Given the description of an element on the screen output the (x, y) to click on. 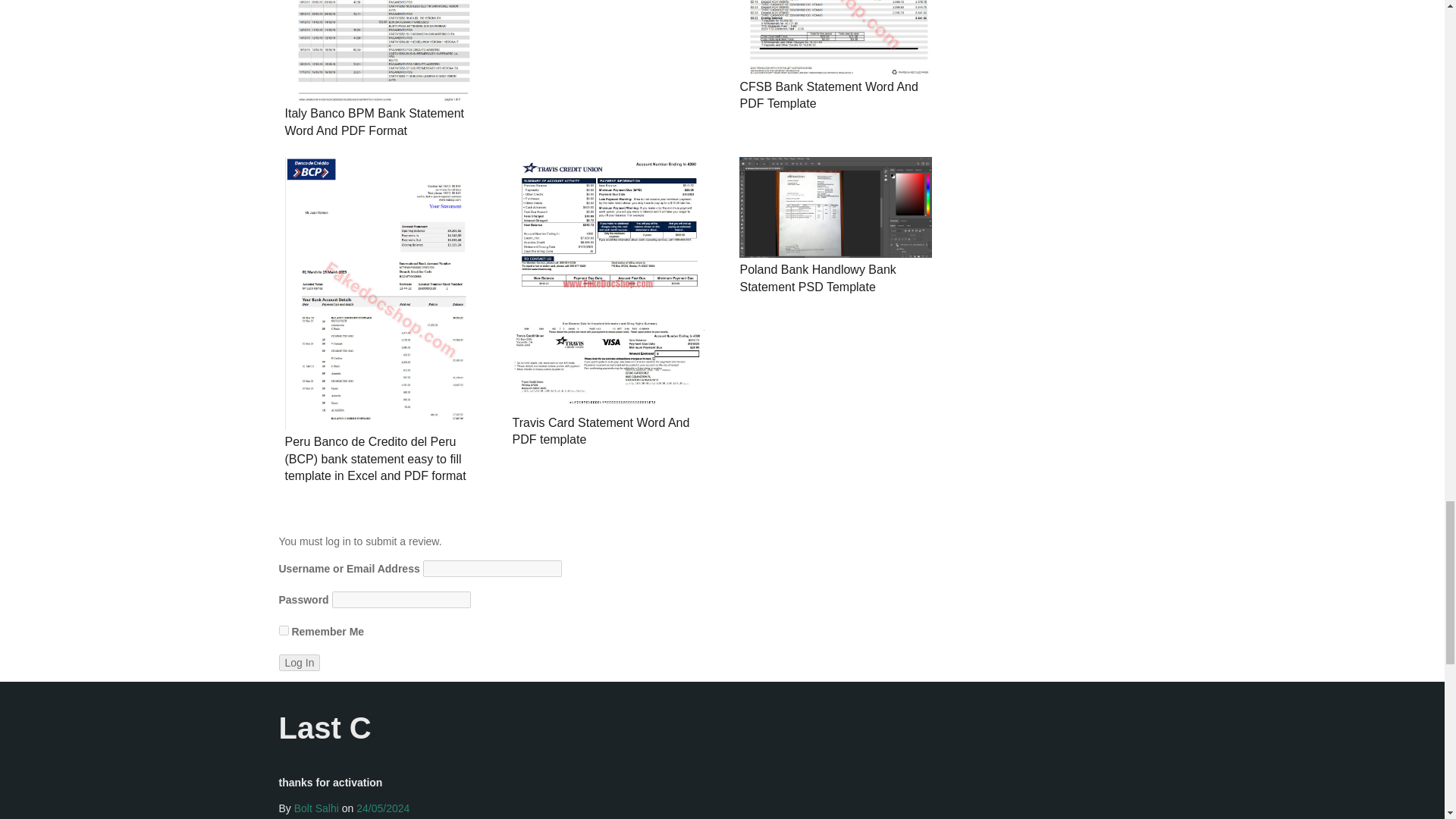
Log In (299, 662)
forever (283, 630)
